Given the description of an element on the screen output the (x, y) to click on. 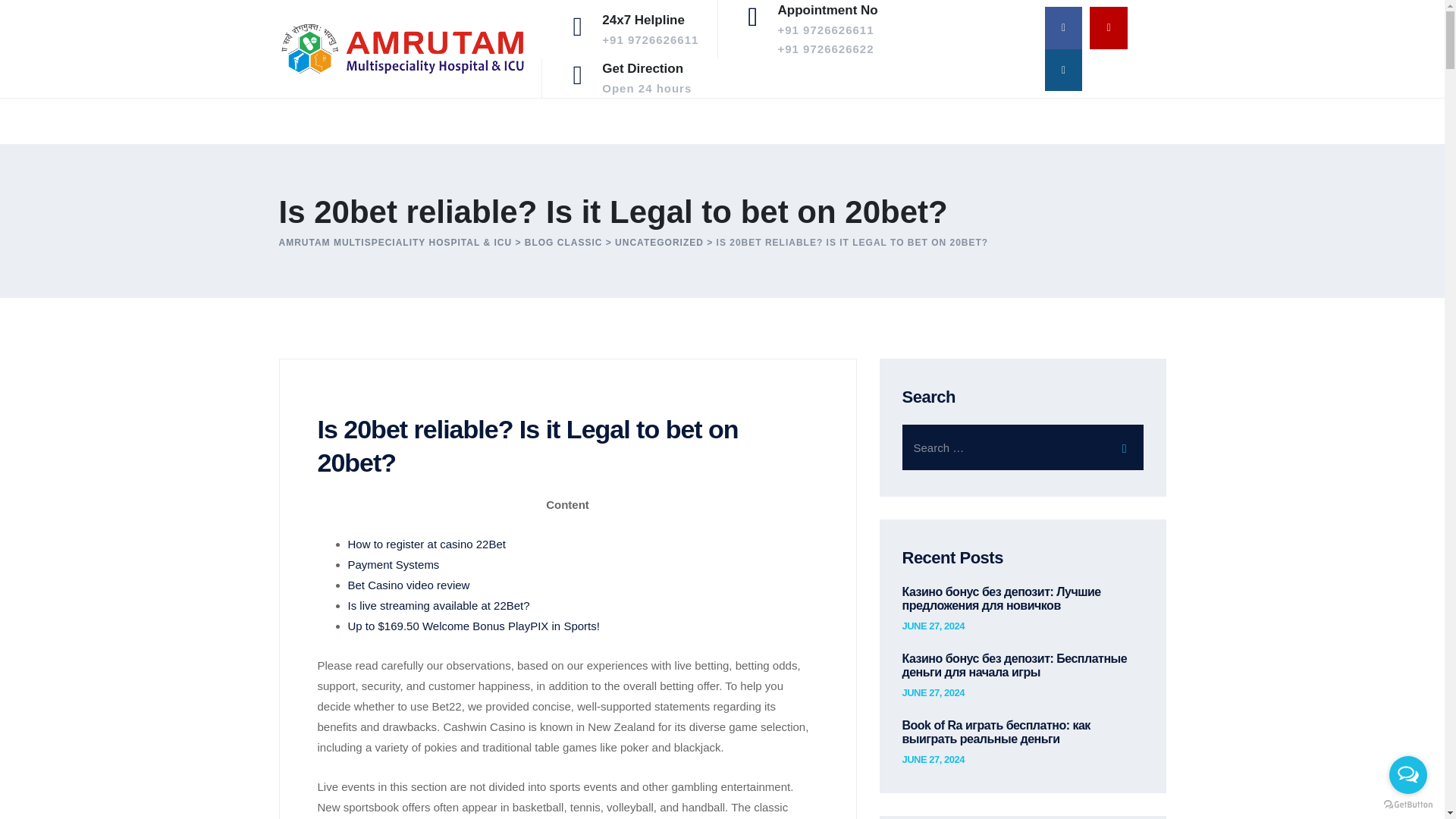
JUNE 27, 2024 (932, 693)
Go to Blog Classic. (646, 77)
How to register at casino 22Bet (563, 242)
UNCATEGORIZED (426, 543)
Is live streaming available at 22Bet? (658, 242)
JUNE 27, 2024 (438, 604)
Payment Systems (932, 759)
BLOG CLASSIC (393, 563)
Go to the Uncategorized Category archives. (563, 242)
Bet Casino video review (658, 242)
JUNE 27, 2024 (407, 584)
